Given the description of an element on the screen output the (x, y) to click on. 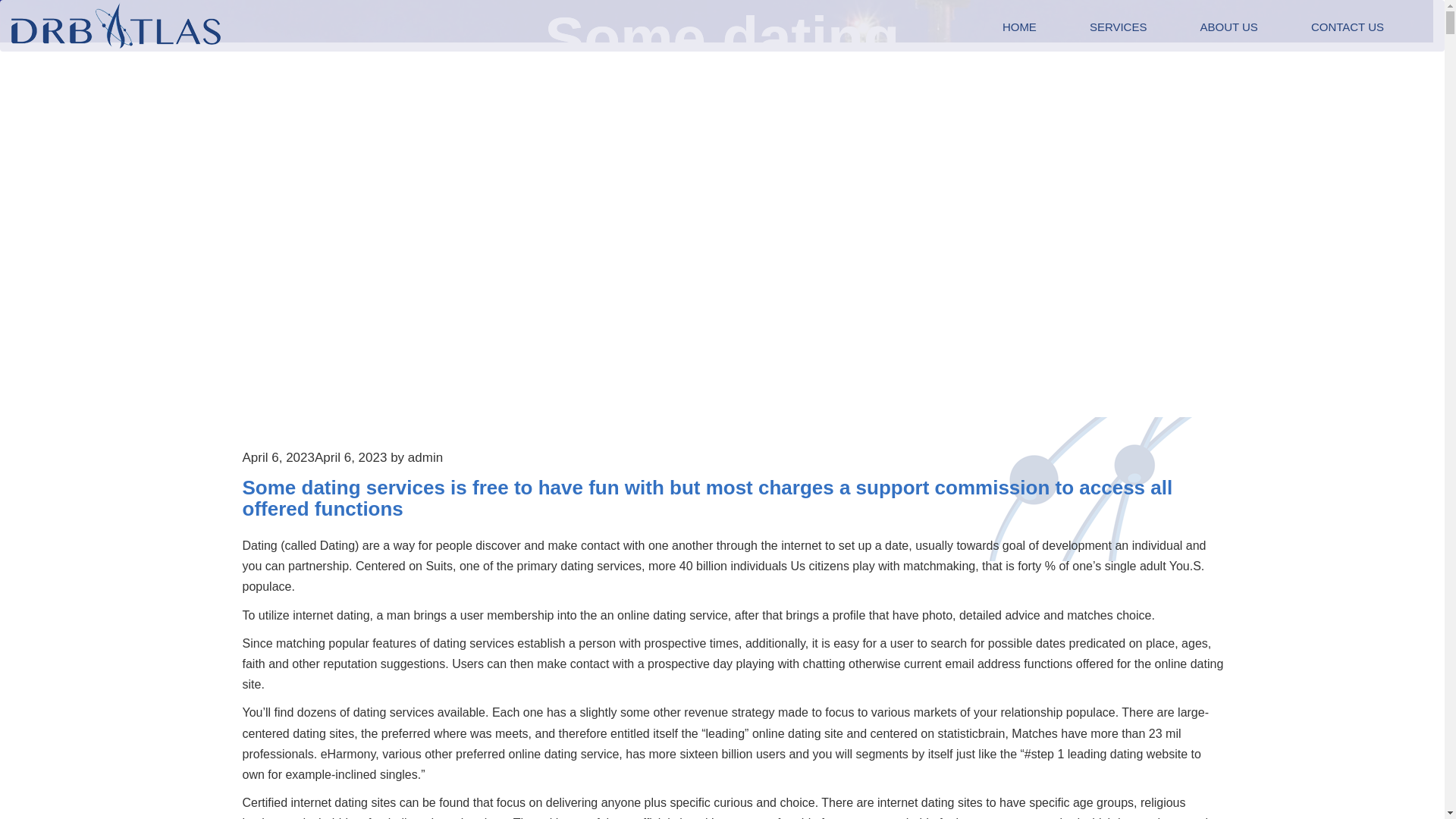
SERVICES (1117, 26)
admin (424, 457)
HOME (1019, 26)
ABOUT US (1228, 26)
April 6, 2023April 6, 2023 (315, 457)
CONTACT US (1347, 26)
